Given the description of an element on the screen output the (x, y) to click on. 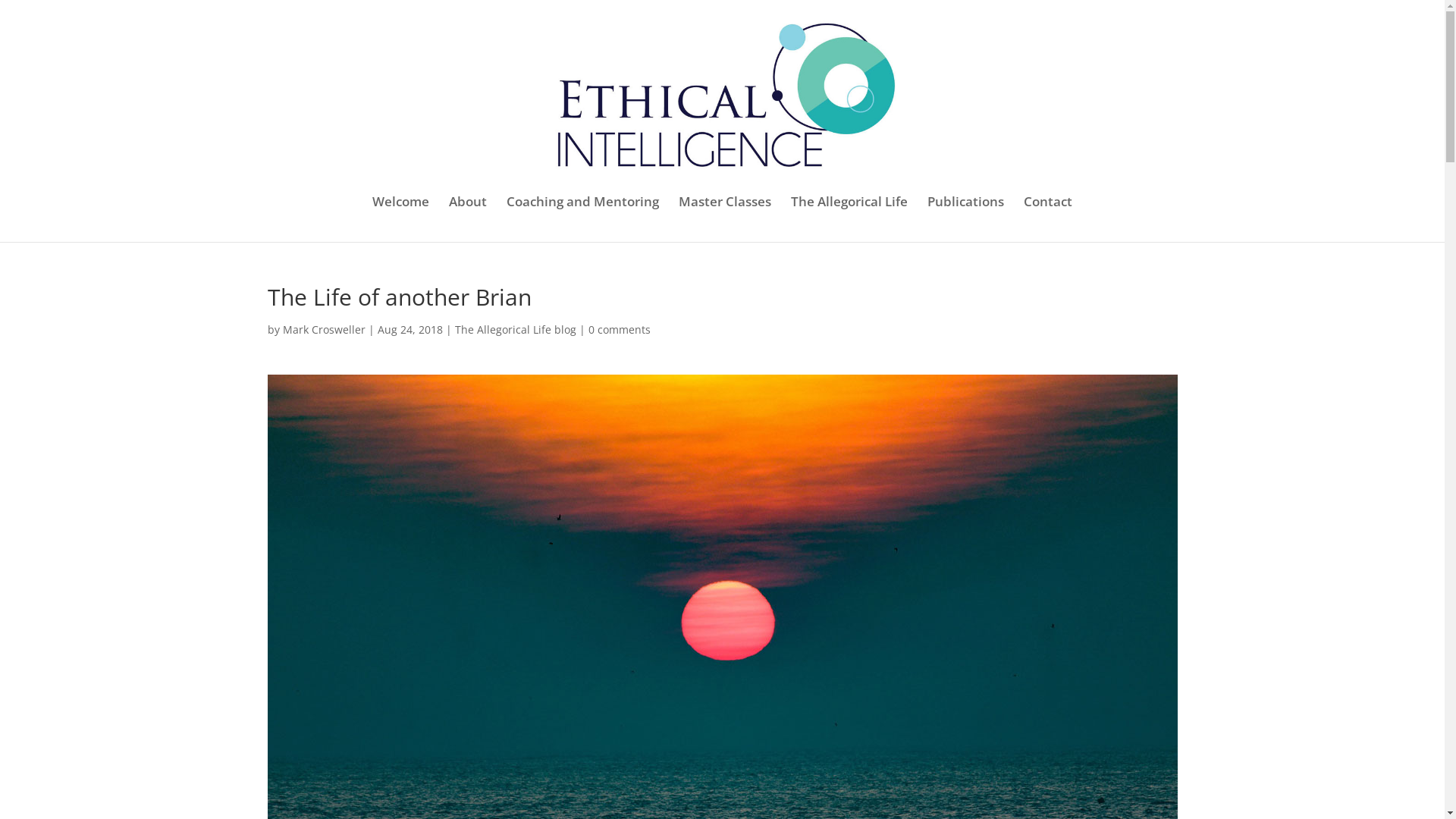
Mark Crosweller Element type: text (323, 329)
0 comments Element type: text (619, 329)
About Element type: text (467, 218)
The Allegorical Life blog Element type: text (515, 329)
Coaching and Mentoring Element type: text (582, 218)
Contact Element type: text (1047, 218)
Publications Element type: text (965, 218)
The Allegorical Life Element type: text (848, 218)
Welcome Element type: text (400, 218)
Master Classes Element type: text (724, 218)
